Given the description of an element on the screen output the (x, y) to click on. 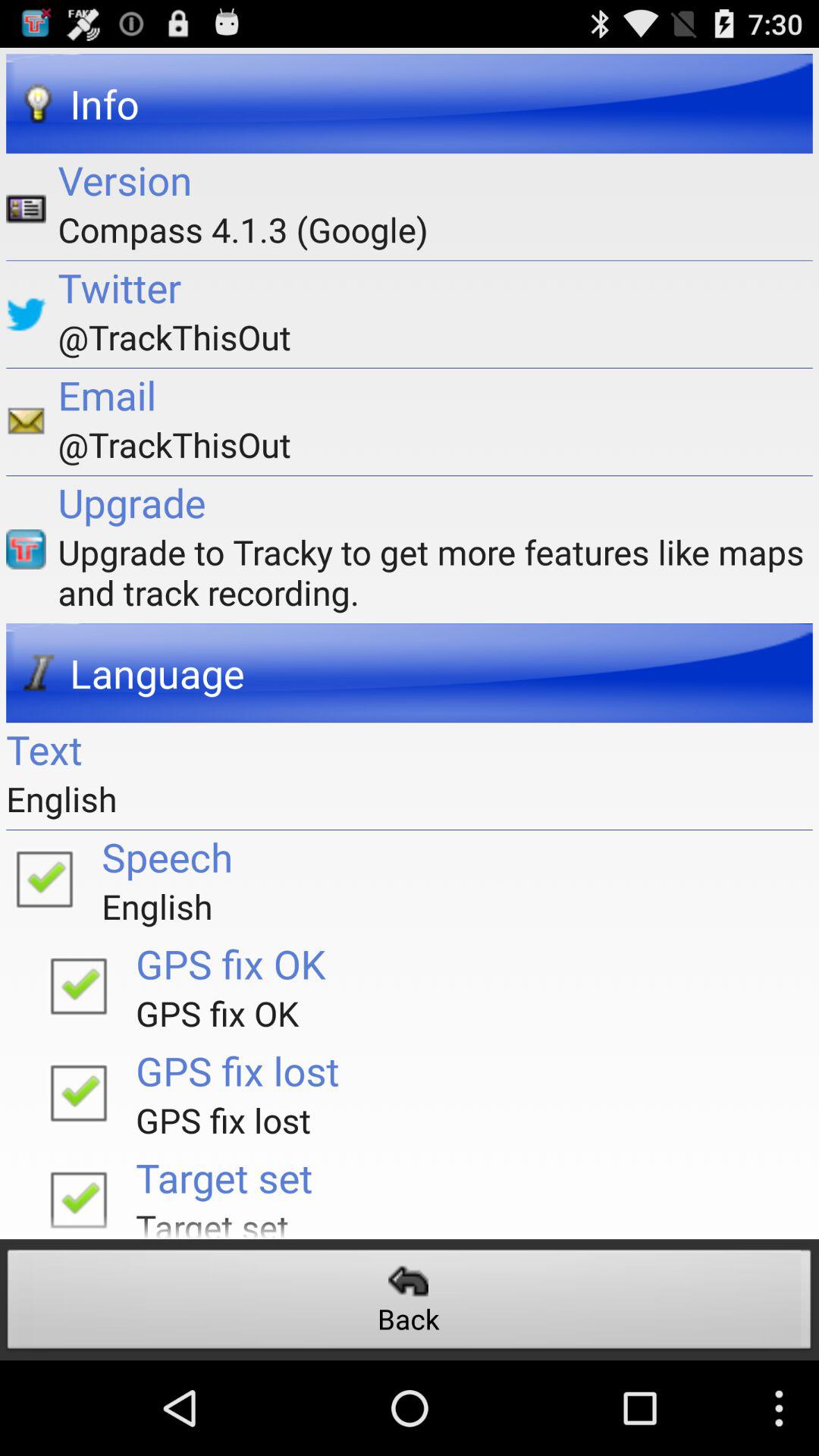
enable target function (78, 1195)
